Given the description of an element on the screen output the (x, y) to click on. 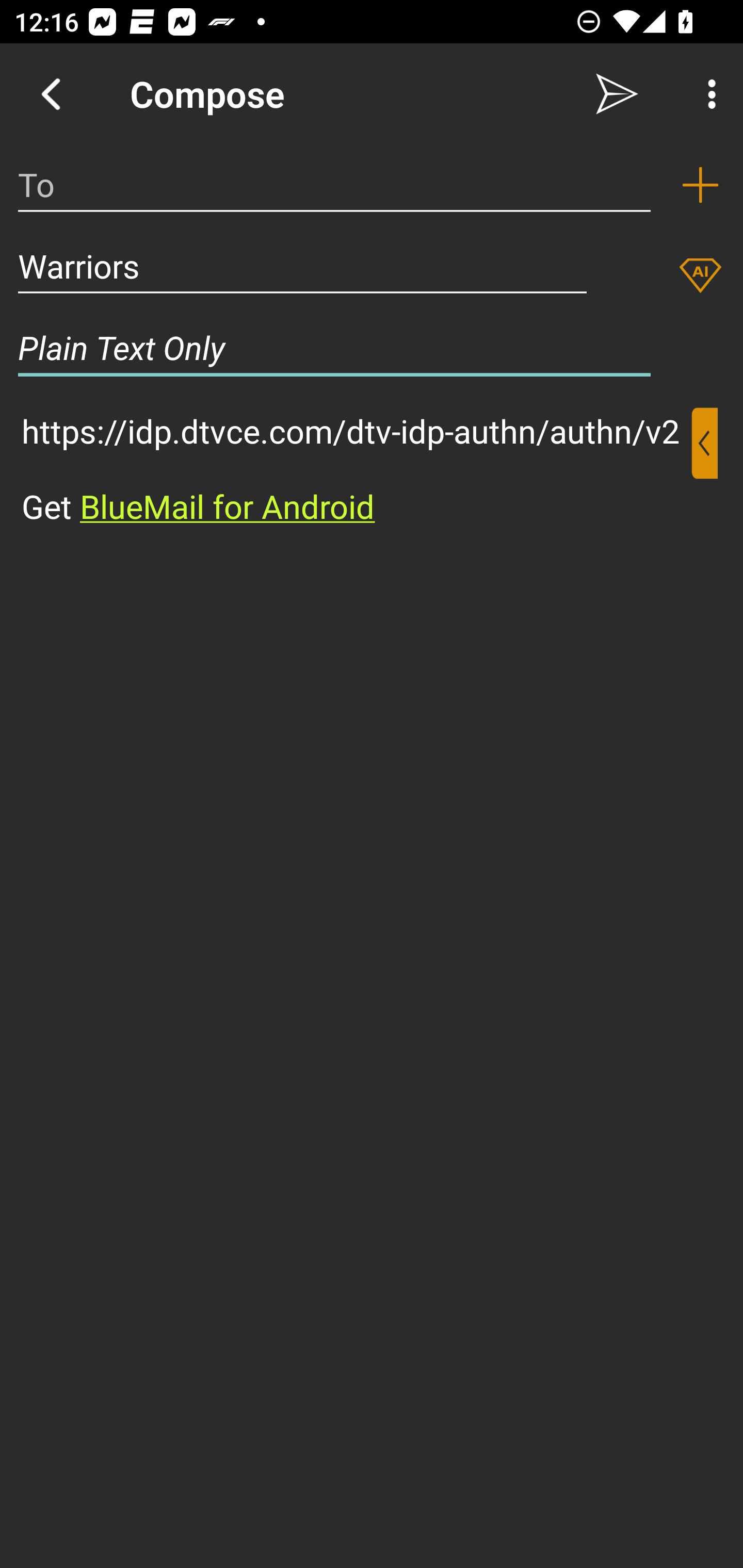
Navigate up (50, 93)
Send (616, 93)
More Options (706, 93)
To (334, 184)
Add recipient (To) (699, 184)
Warriors (302, 266)
Plain Text Only (371, 347)
